Given the description of an element on the screen output the (x, y) to click on. 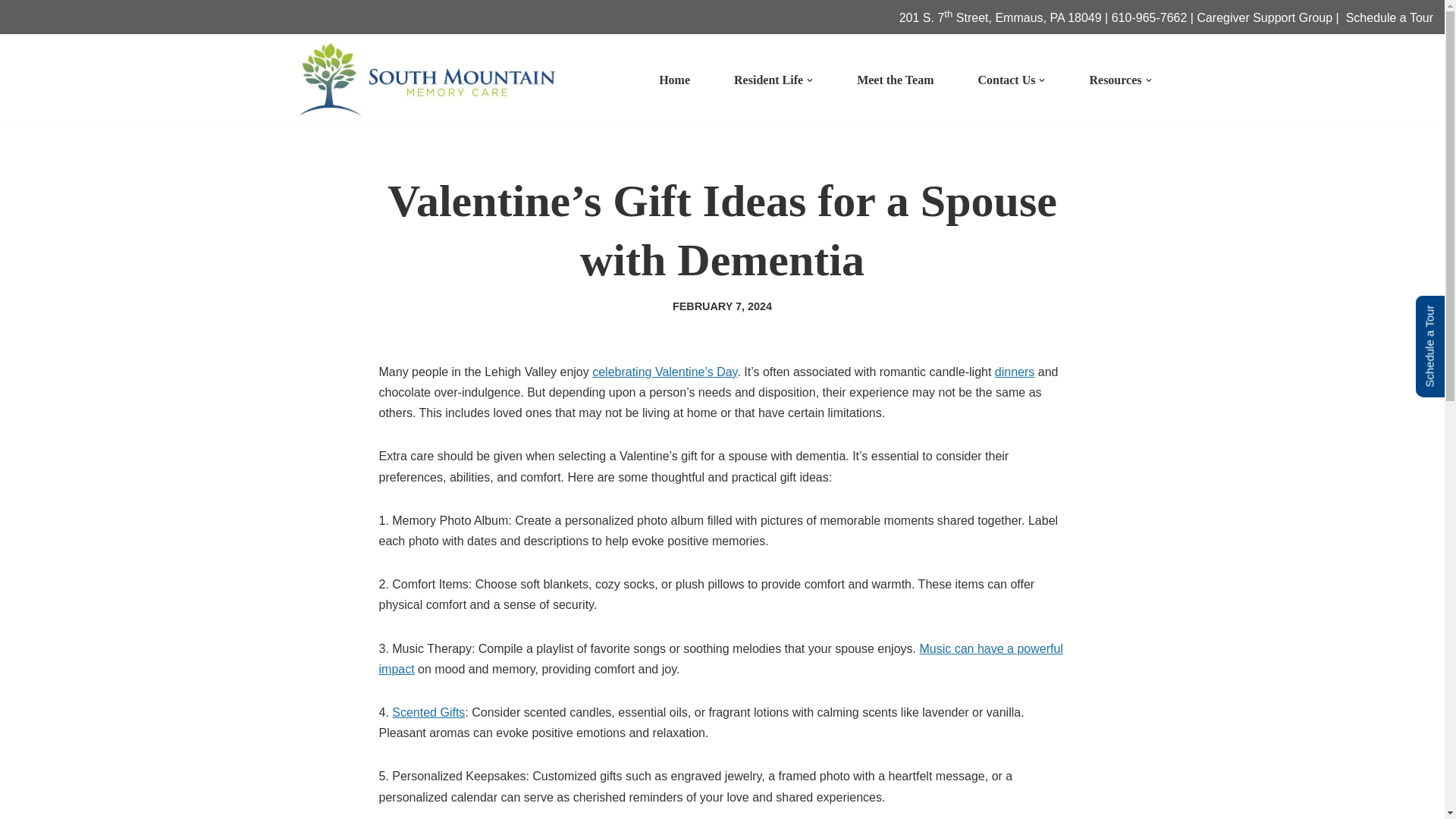
Schedule a Tour (1388, 17)
Resources (1115, 79)
Caregiver Support Group (1264, 17)
Contact Us (1005, 79)
Home (674, 79)
Meet the Team (895, 79)
Skip to content (11, 31)
Resident Life (768, 79)
